Given the description of an element on the screen output the (x, y) to click on. 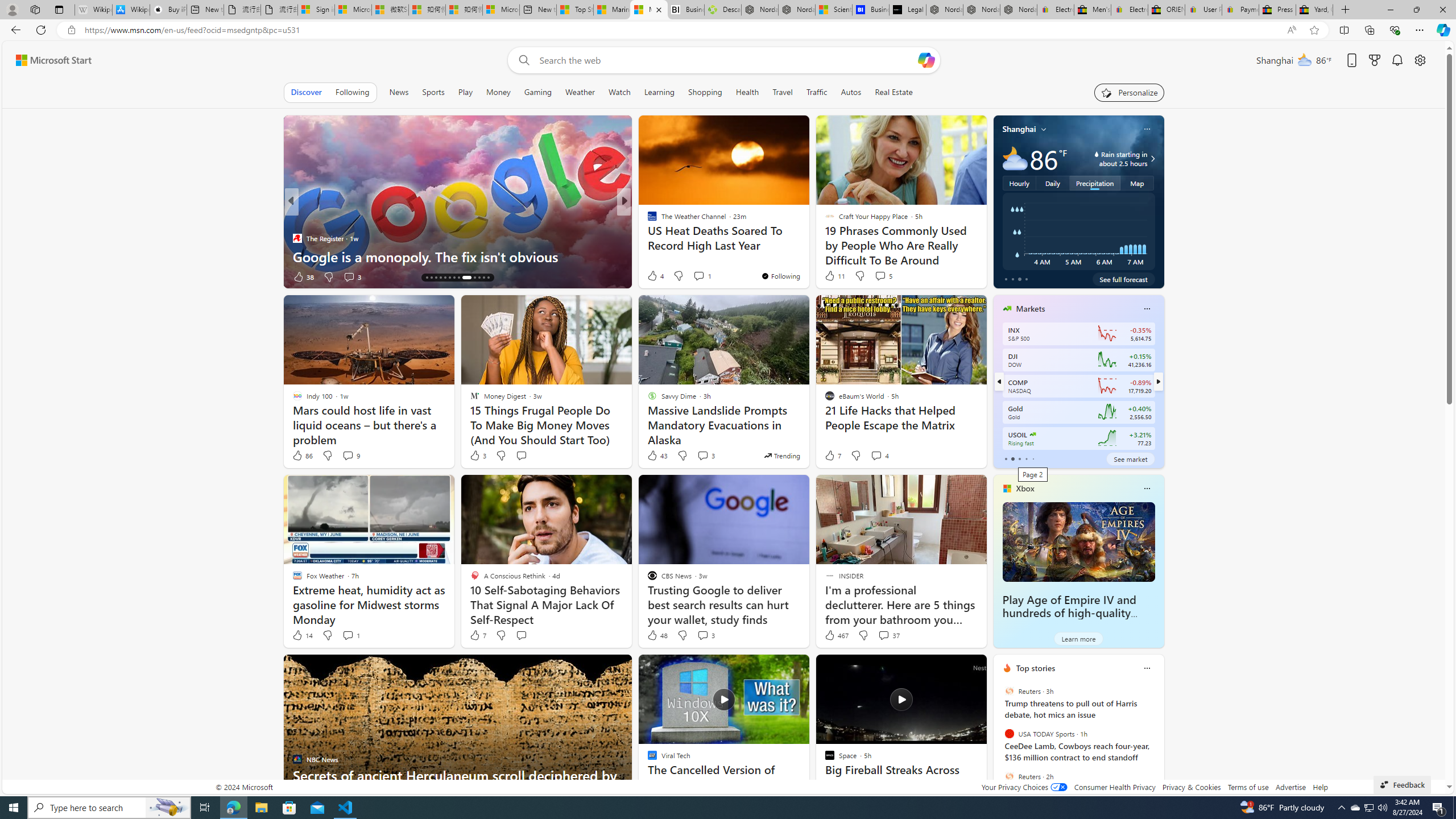
View comments 35 Comment (703, 276)
View comments 11 Comment (6, 276)
AutomationID: tab-23 (472, 277)
AutomationID: tab-19 (449, 277)
This story is trending (781, 455)
4 AM 5 AM 6 AM 7 AM (1077, 231)
View comments 3 Comment (705, 634)
